Given the description of an element on the screen output the (x, y) to click on. 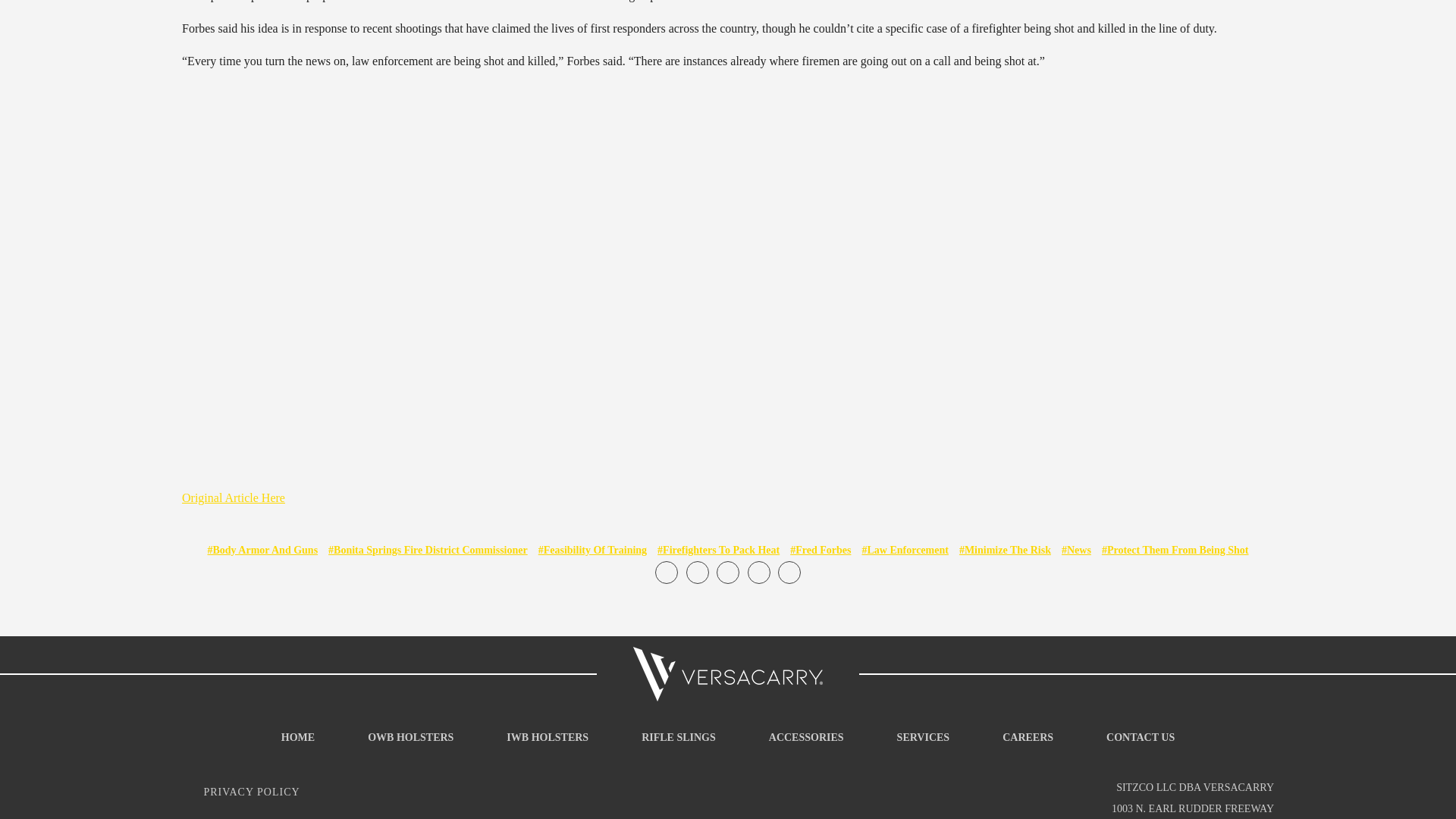
Email (696, 572)
Twitter (727, 572)
Facebook (666, 572)
Pinterest (788, 572)
Linkedin (759, 572)
Versacarry (727, 674)
